Given the description of an element on the screen output the (x, y) to click on. 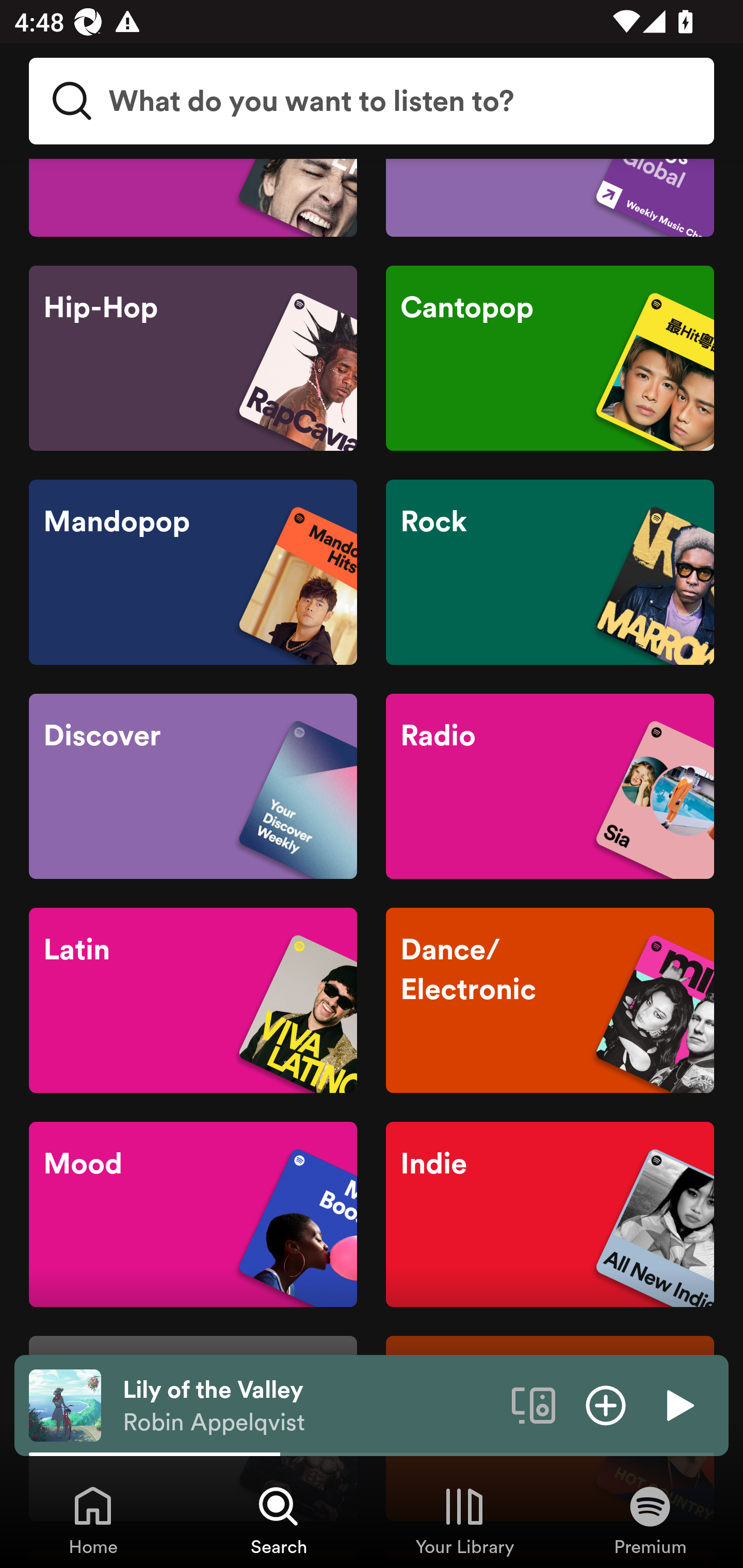
Comedy (192, 197)
Charts (549, 197)
Hip-Hop (192, 357)
Cantopop (549, 357)
Mandopop (192, 571)
Rock (549, 571)
Discover (192, 786)
Radio (549, 786)
Latin (192, 999)
Dance/Electronic (549, 999)
Mood (192, 1214)
Indie (549, 1214)
Lily of the Valley Robin Appelqvist (309, 1405)
The cover art of the currently playing track (64, 1404)
Connect to a device. Opens the devices menu (533, 1404)
Add item (605, 1404)
Play (677, 1404)
Home, Tab 1 of 4 Home Home (92, 1519)
Search, Tab 2 of 4 Search Search (278, 1519)
Your Library, Tab 3 of 4 Your Library Your Library (464, 1519)
Premium, Tab 4 of 4 Premium Premium (650, 1519)
